Given the description of an element on the screen output the (x, y) to click on. 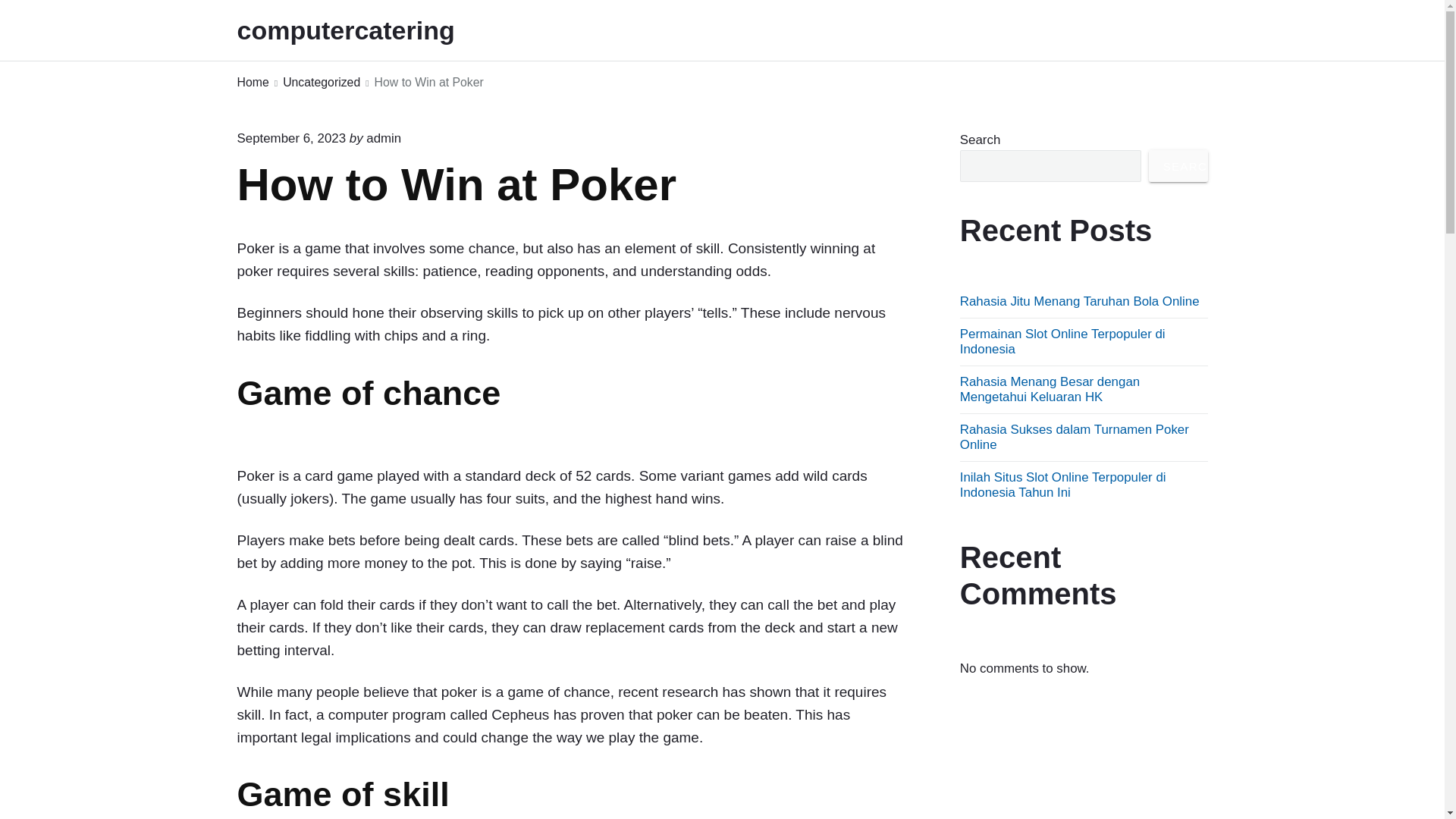
Rahasia Jitu Menang Taruhan Bola Online (1079, 301)
SEARCH (1178, 165)
Permainan Slot Online Terpopuler di Indonesia (1062, 341)
Rahasia Sukses dalam Turnamen Poker Online (1074, 437)
Posts by admin (383, 138)
Wednesday, September 6, 2023, 8:04 pm (290, 138)
Rahasia Menang Besar dengan Mengetahui Keluaran HK (1049, 389)
admin (383, 138)
computercatering (365, 30)
Uncategorized (320, 82)
Home (251, 82)
Inilah Situs Slot Online Terpopuler di Indonesia Tahun Ini (1062, 484)
